Given the description of an element on the screen output the (x, y) to click on. 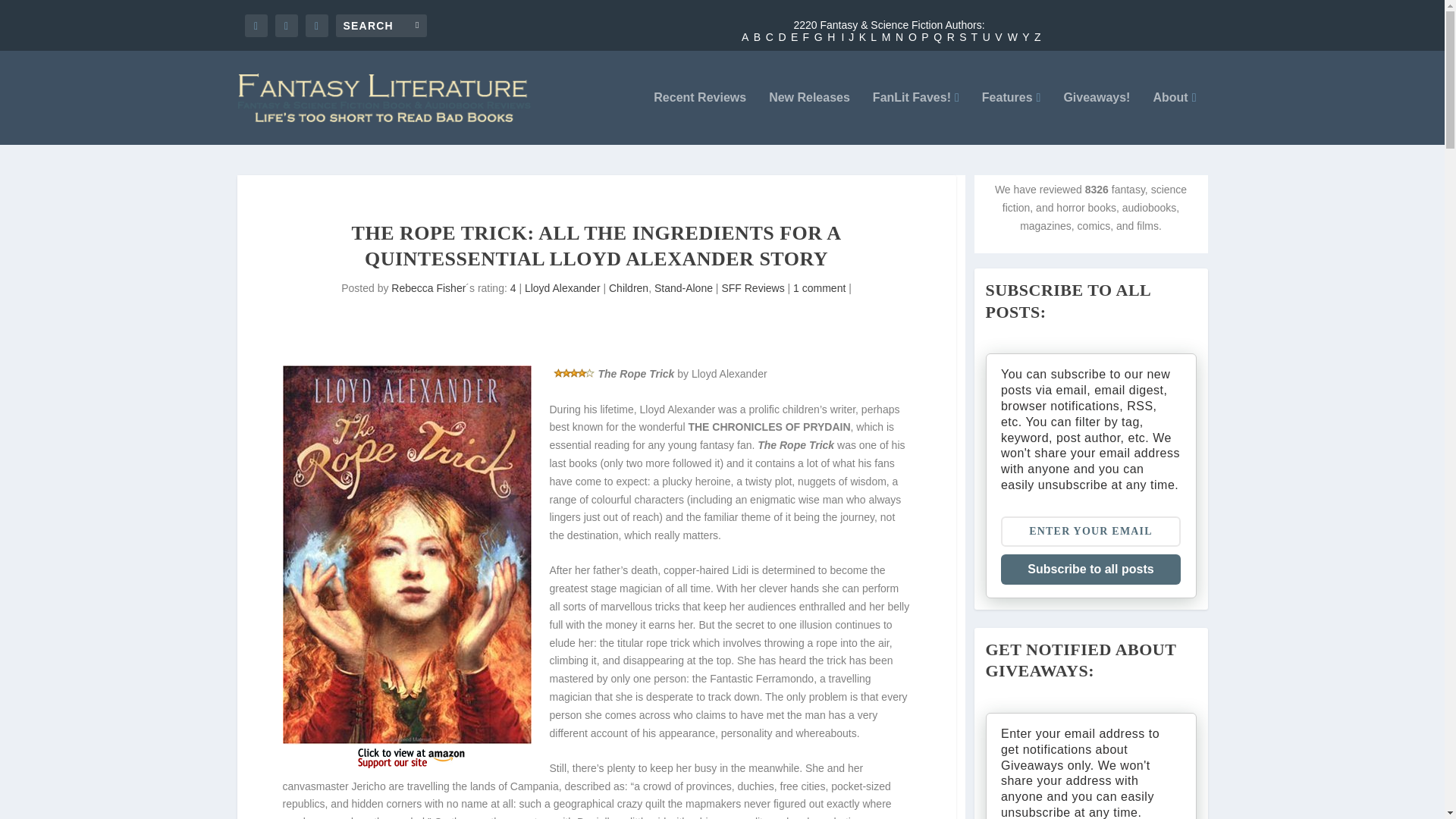
Posts by Rebecca Fisher (428, 287)
FanLit Faves! (915, 117)
Search for: (380, 24)
